Given the description of an element on the screen output the (x, y) to click on. 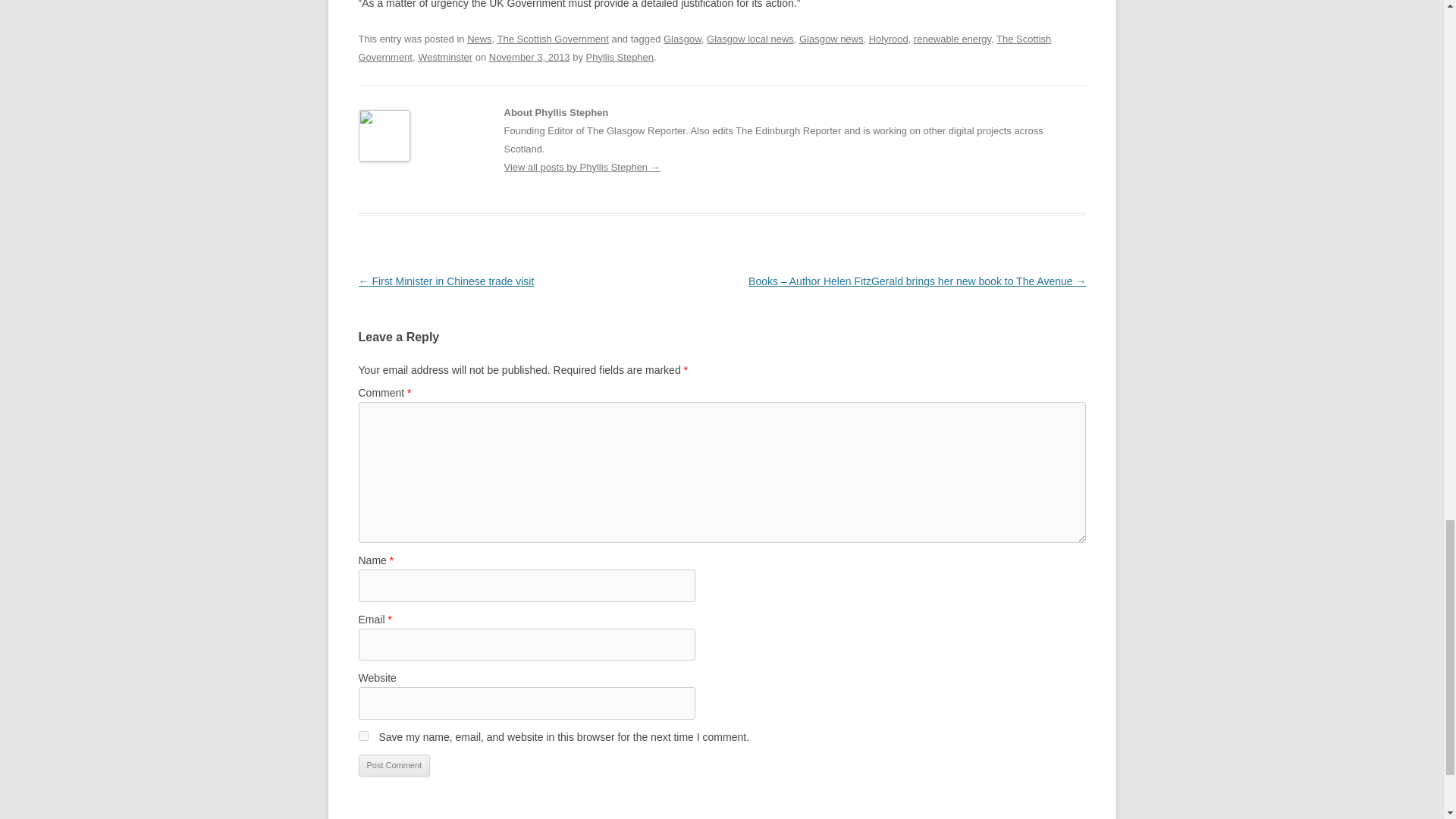
November 3, 2013 (529, 57)
Glasgow local news (749, 39)
Glasgow news (831, 39)
11:12 am (529, 57)
Holyrood (888, 39)
Post Comment (393, 765)
renewable energy (952, 39)
The Scottish Government (704, 48)
News (479, 39)
Phyllis Stephen (619, 57)
